Given the description of an element on the screen output the (x, y) to click on. 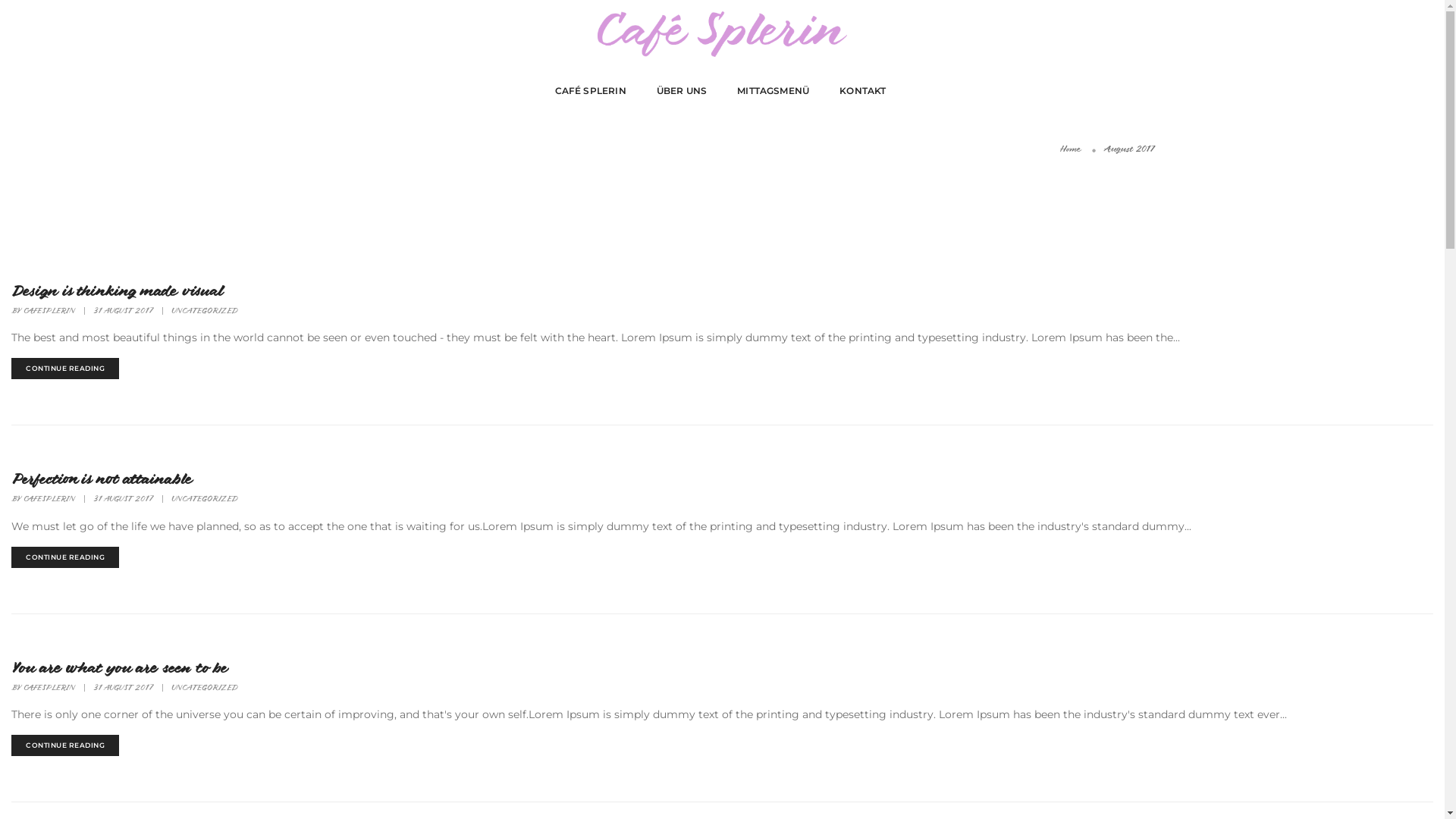
CONTINUE READING Element type: text (65, 368)
CONTINUE READING Element type: text (65, 556)
CONTINUE READING Element type: text (65, 745)
Home Element type: text (1070, 149)
Cafe Splerin Element type: hover (721, 33)
Perfection is not attainable Element type: text (101, 480)
Design is thinking made visual Element type: text (116, 292)
CAFESPLERIN Element type: text (49, 688)
You are what you are seen to be Element type: text (118, 669)
UNCATEGORIZED Element type: text (204, 499)
CAFESPLERIN Element type: text (49, 499)
UNCATEGORIZED Element type: text (204, 688)
KONTAKT Element type: text (862, 90)
UNCATEGORIZED Element type: text (204, 311)
CAFESPLERIN Element type: text (49, 311)
